Given the description of an element on the screen output the (x, y) to click on. 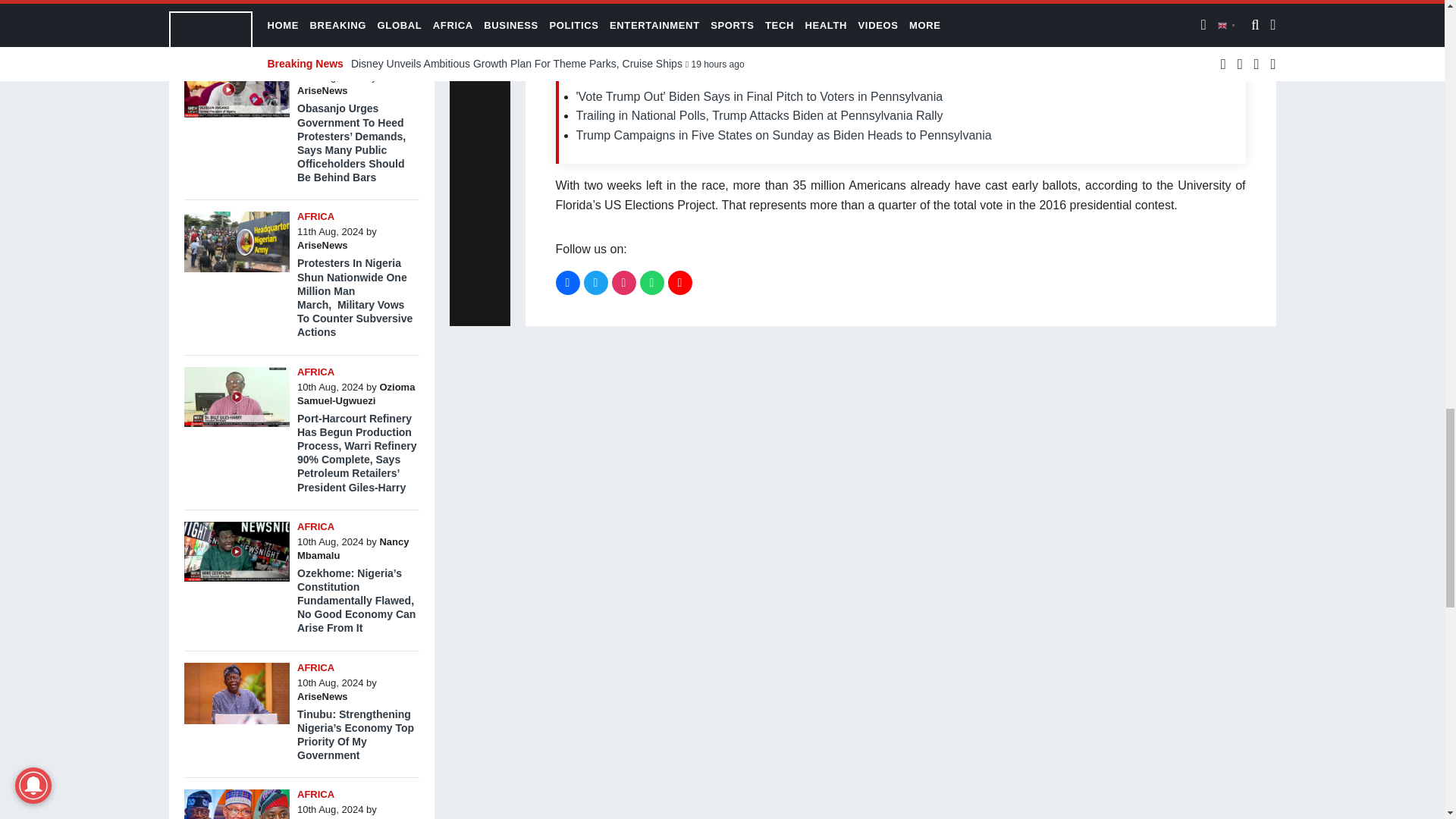
Instagram (622, 282)
Youtube (678, 282)
WhatsApp (651, 282)
Facebook (566, 282)
Twitter (595, 282)
